Given the description of an element on the screen output the (x, y) to click on. 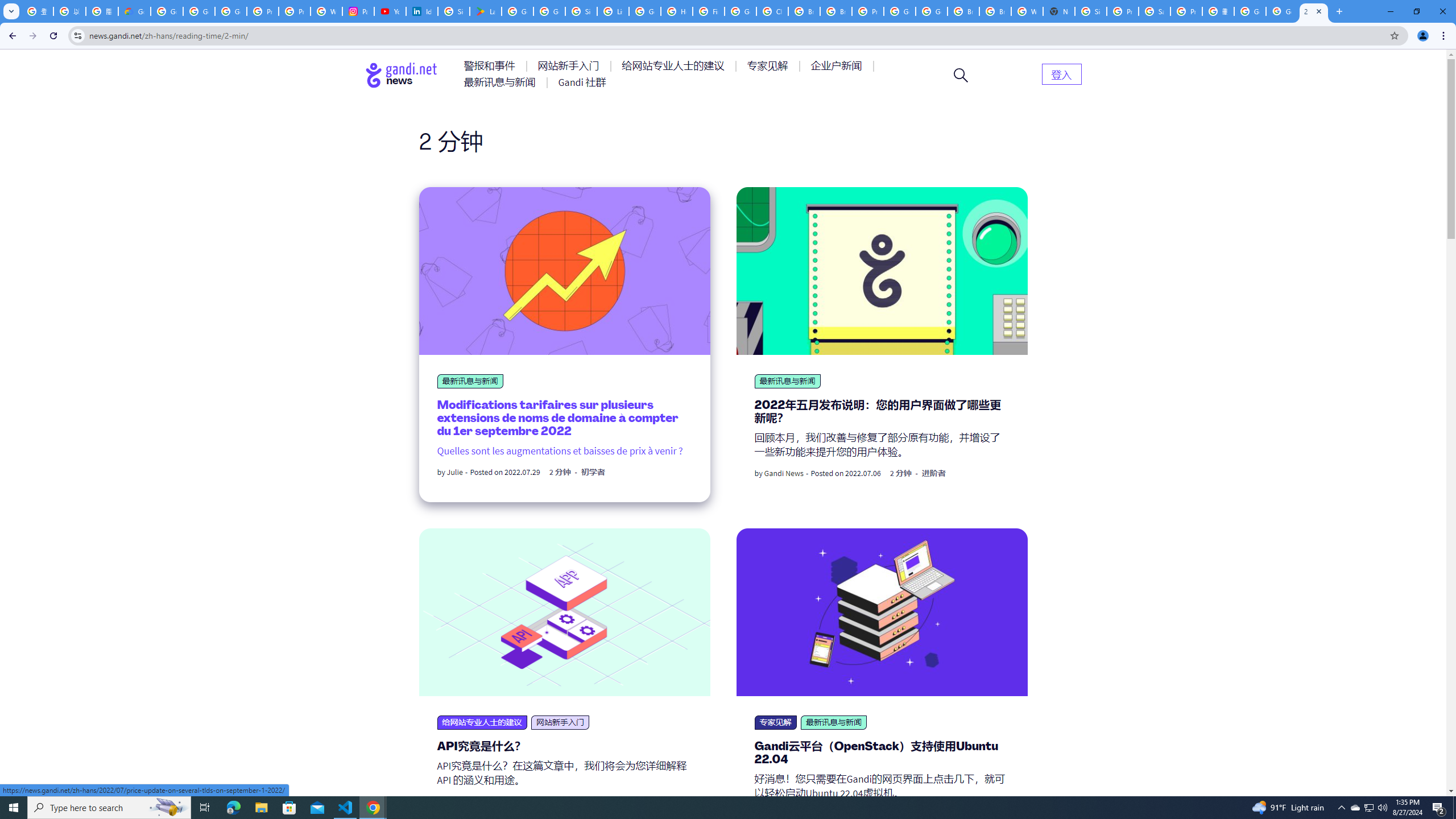
AutomationID: menu-item-77762 (570, 65)
